Given the description of an element on the screen output the (x, y) to click on. 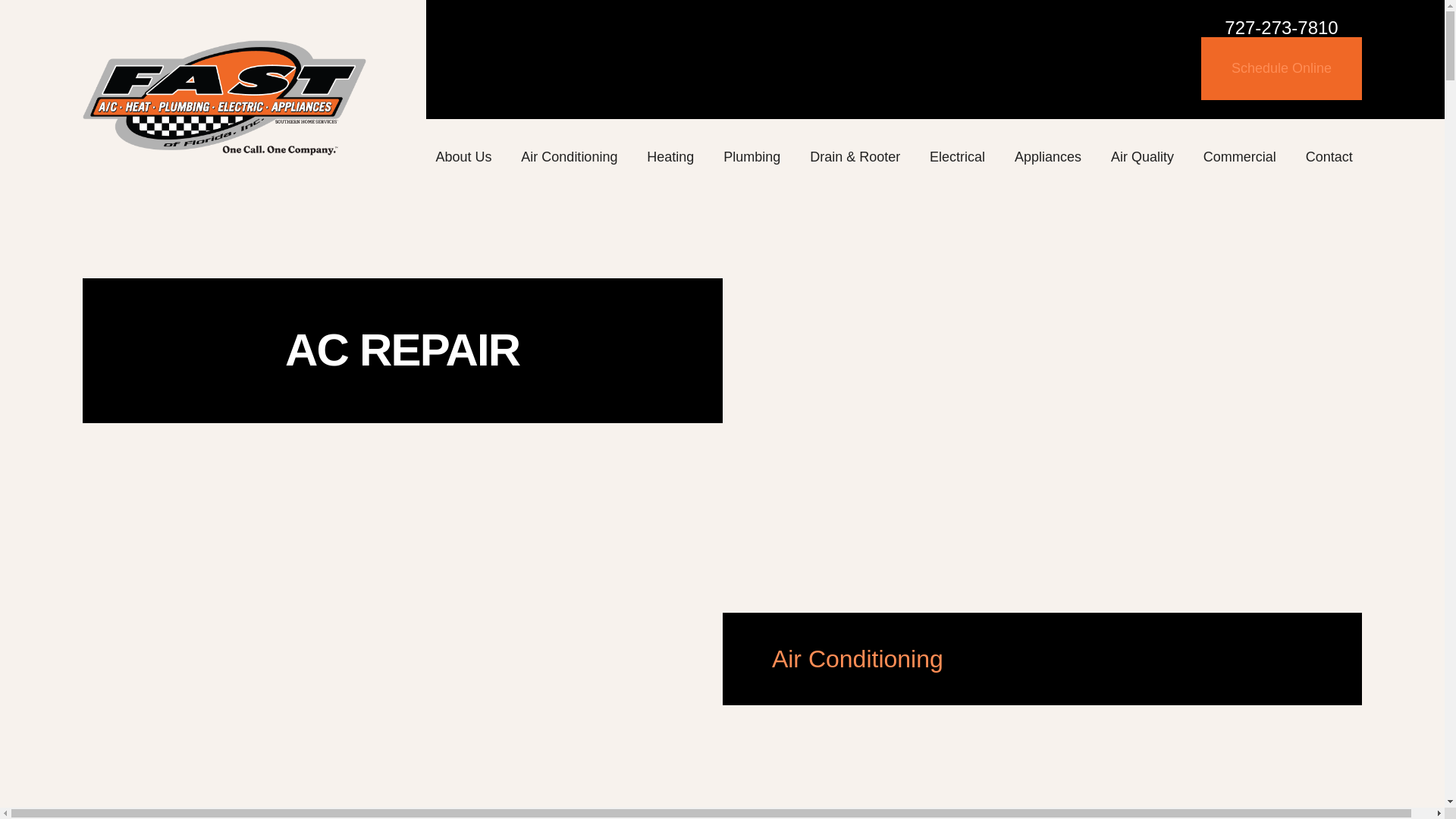
Schedule Online (1281, 67)
Air Conditioning (569, 157)
FAST of Florida (224, 97)
727-273-7810 (1281, 27)
About Us (463, 157)
Open the accessibility options menu (1412, 774)
